Given the description of an element on the screen output the (x, y) to click on. 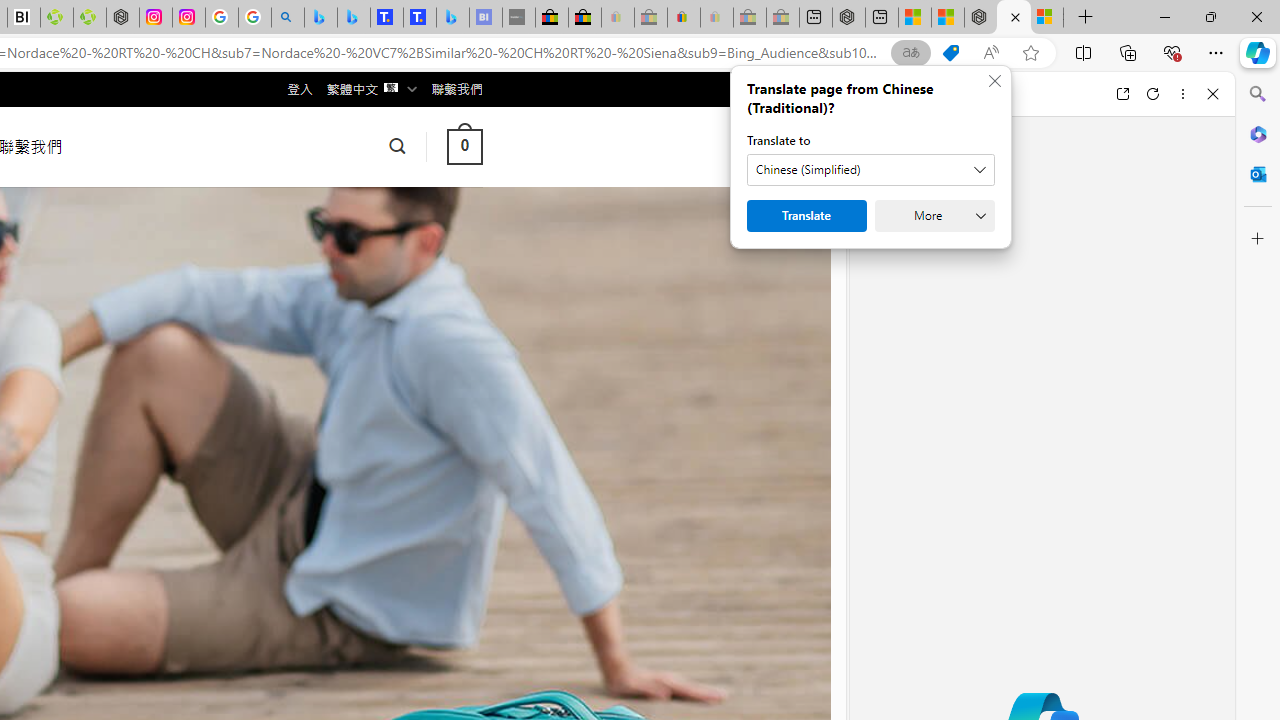
Translate (806, 215)
Nordace - Summer Adventures 2024 (1014, 17)
Threats and offensive language policy | eBay (684, 17)
Open link in new tab (1122, 93)
More options (1182, 93)
Sign in to your Microsoft account (1046, 17)
Nordace - Nordace Edin Collection (123, 17)
Safety in Our Products - Google Safety Center (222, 17)
Shangri-La Bangkok, Hotel reviews and Room rates (420, 17)
